Given the description of an element on the screen output the (x, y) to click on. 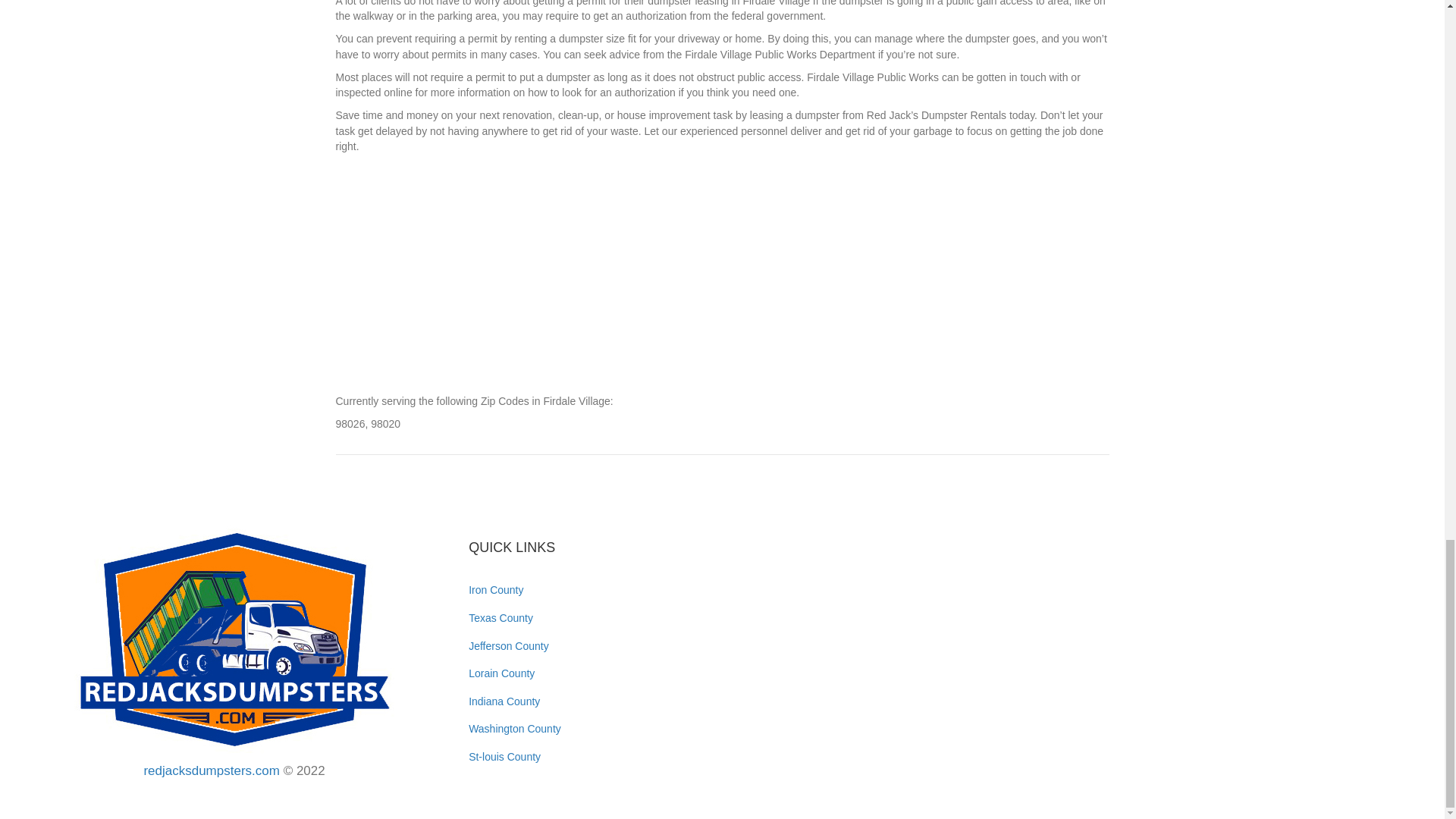
Iron County (495, 589)
Indiana County (504, 701)
Texas County (500, 617)
Lorain County (501, 673)
St-louis County (504, 756)
Jefferson County (508, 645)
Washington County (514, 728)
logo-png (234, 639)
redjacksdumpsters.com (210, 770)
